Given the description of an element on the screen output the (x, y) to click on. 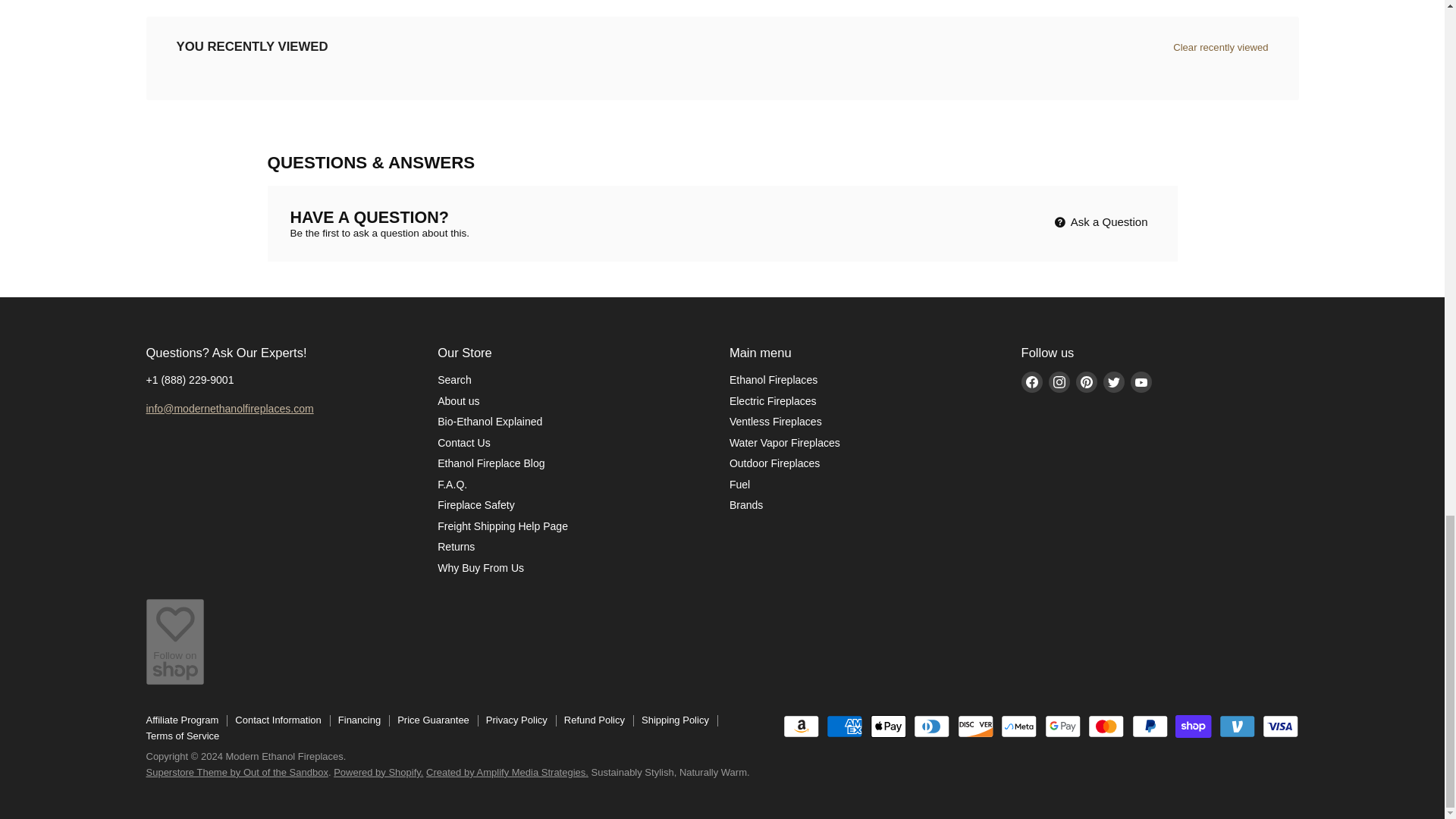
Facebook (1031, 381)
Pinterest (1086, 381)
Instagram (1059, 381)
Contact Us (229, 408)
YouTube (1140, 381)
Twitter (1113, 381)
